Given the description of an element on the screen output the (x, y) to click on. 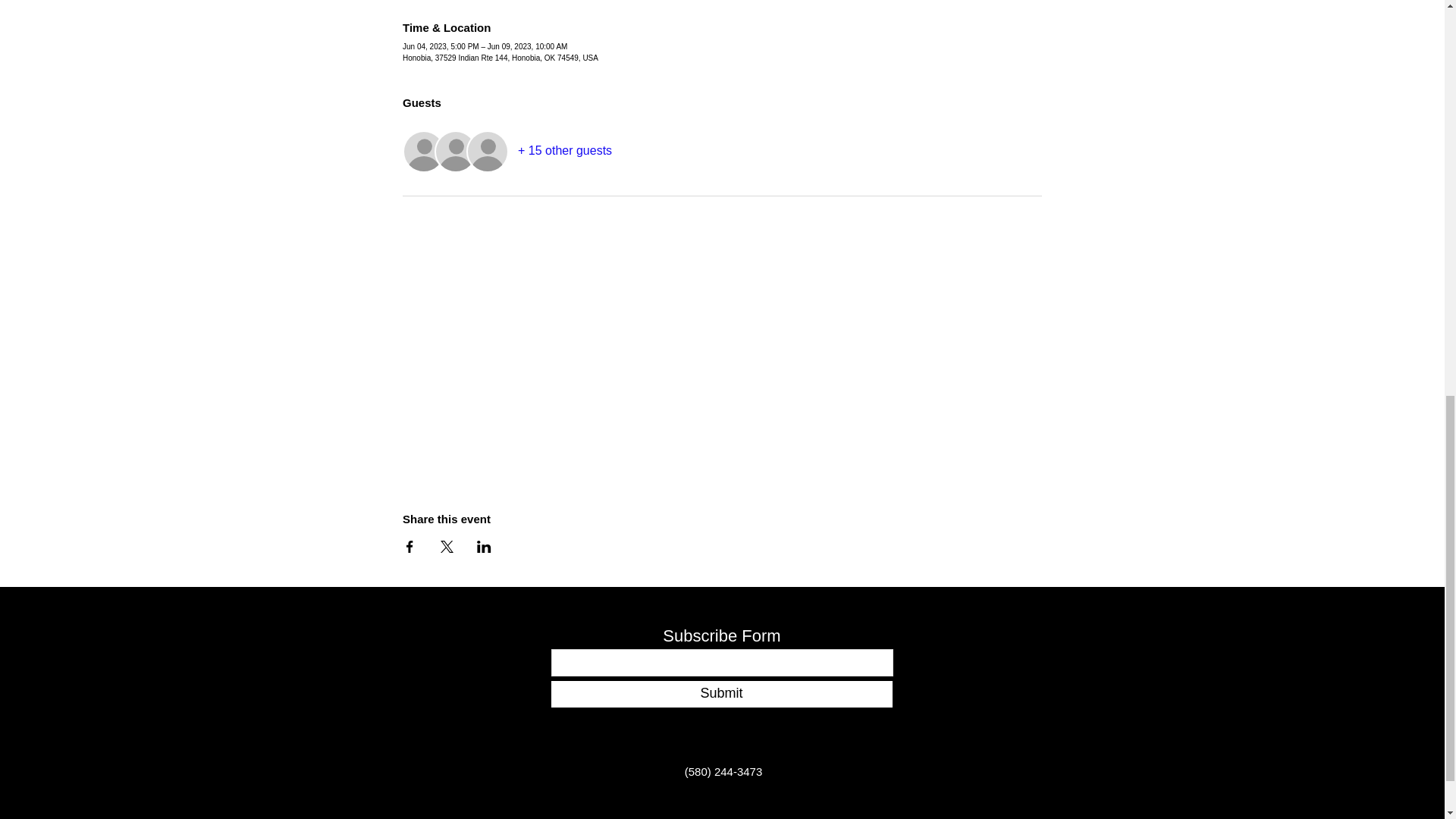
Submit (720, 693)
